Given the description of an element on the screen output the (x, y) to click on. 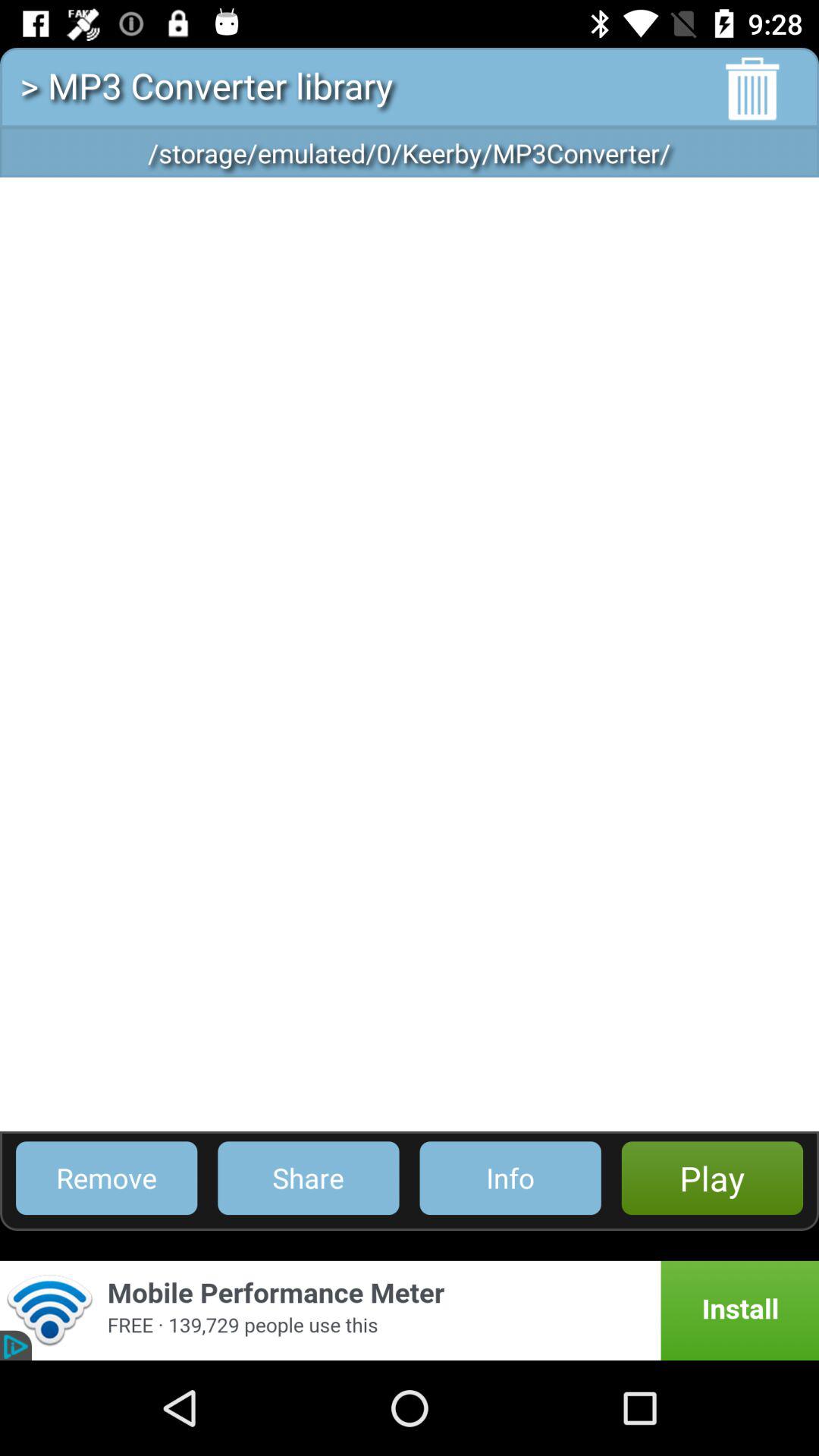
press icon to the left of the play item (510, 1177)
